Given the description of an element on the screen output the (x, y) to click on. 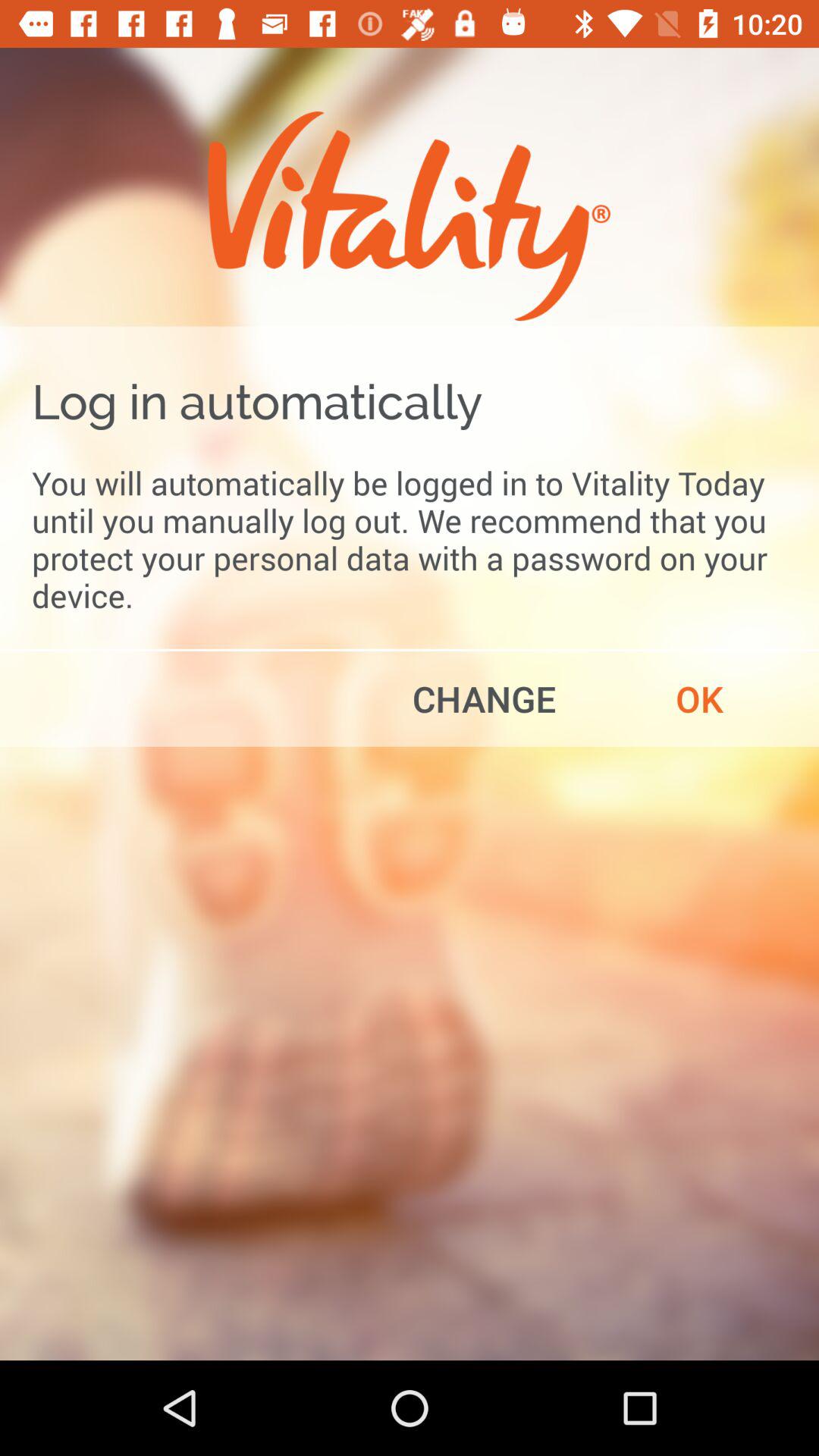
jump until ok (699, 698)
